Given the description of an element on the screen output the (x, y) to click on. 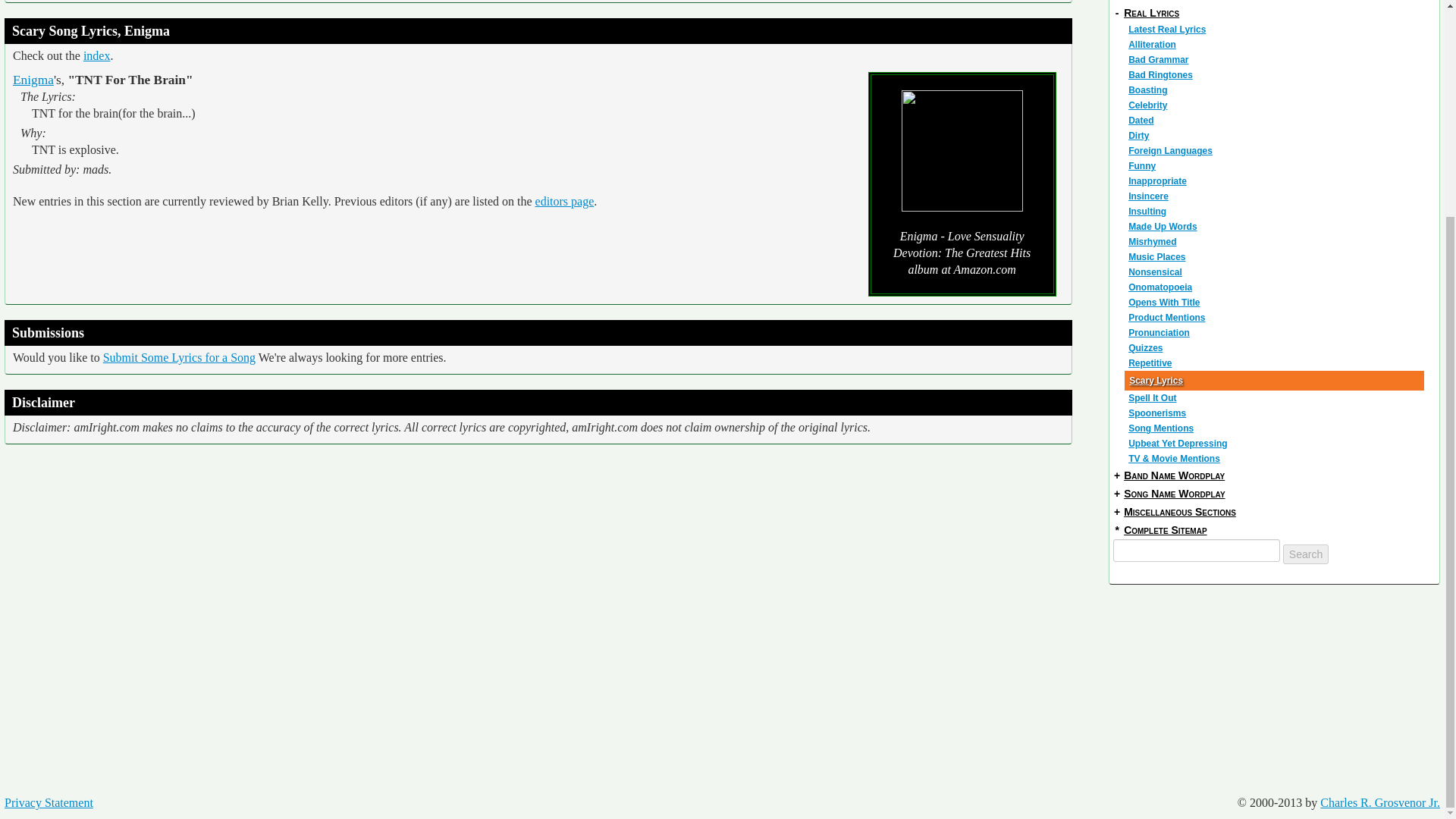
Submit Some Lyrics for a Song (179, 357)
Dirty (1275, 135)
Alliteration (1275, 44)
Celebrity (1275, 105)
Pronunciation (1275, 332)
Foreign Languages (1275, 150)
Made Up Words (1275, 226)
editors page (564, 201)
Insincere (1275, 196)
Enigma (33, 79)
Misrhymed (1275, 241)
Quizzes (1275, 347)
Dated (1275, 120)
Real Lyrics (1151, 12)
Search (1304, 553)
